Given the description of an element on the screen output the (x, y) to click on. 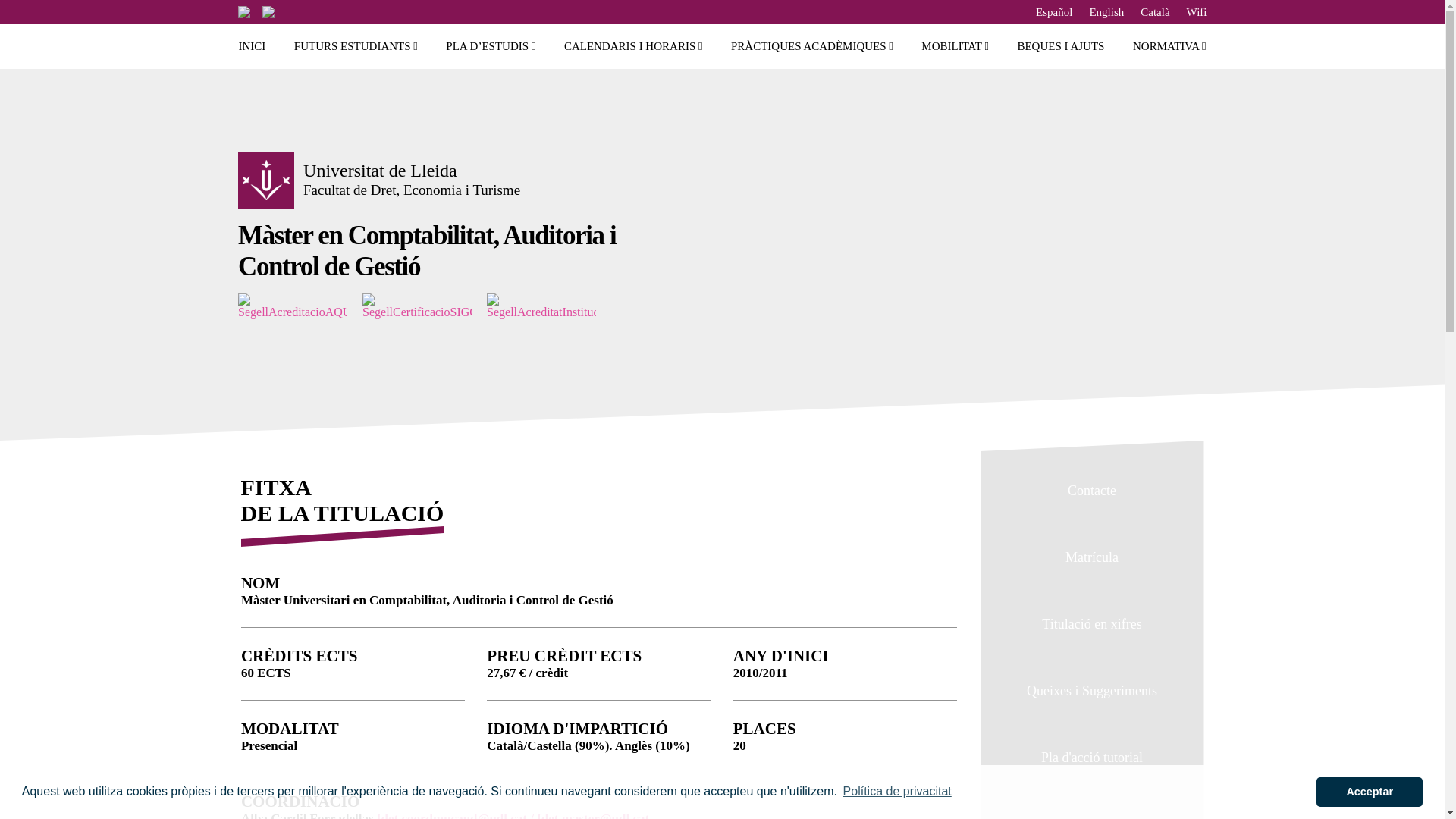
Acceptar Element type: text (1369, 791)
SegellCertificacioSIGC_FDET_catala Element type: hover (424, 306)
MOBILITAT Element type: text (954, 46)
English Element type: text (1106, 11)
Wifi Element type: text (1196, 11)
SegellAcreditacioAQU_MCACGestio_ca Element type: hover (300, 306)
INICI Element type: text (251, 46)
SegellAcreditatInstitucionalment_FDET_catala Element type: hover (548, 306)
Universitat de Lleida
Facultat de Dret, Economia i Turisme Element type: text (411, 180)
CALENDARIS I HORARIS Element type: text (633, 46)
NORMATIVA Element type: text (1168, 46)
BEQUES I AJUTS Element type: text (1060, 46)
FUTURS ESTUDIANTS Element type: text (355, 46)
